Given the description of an element on the screen output the (x, y) to click on. 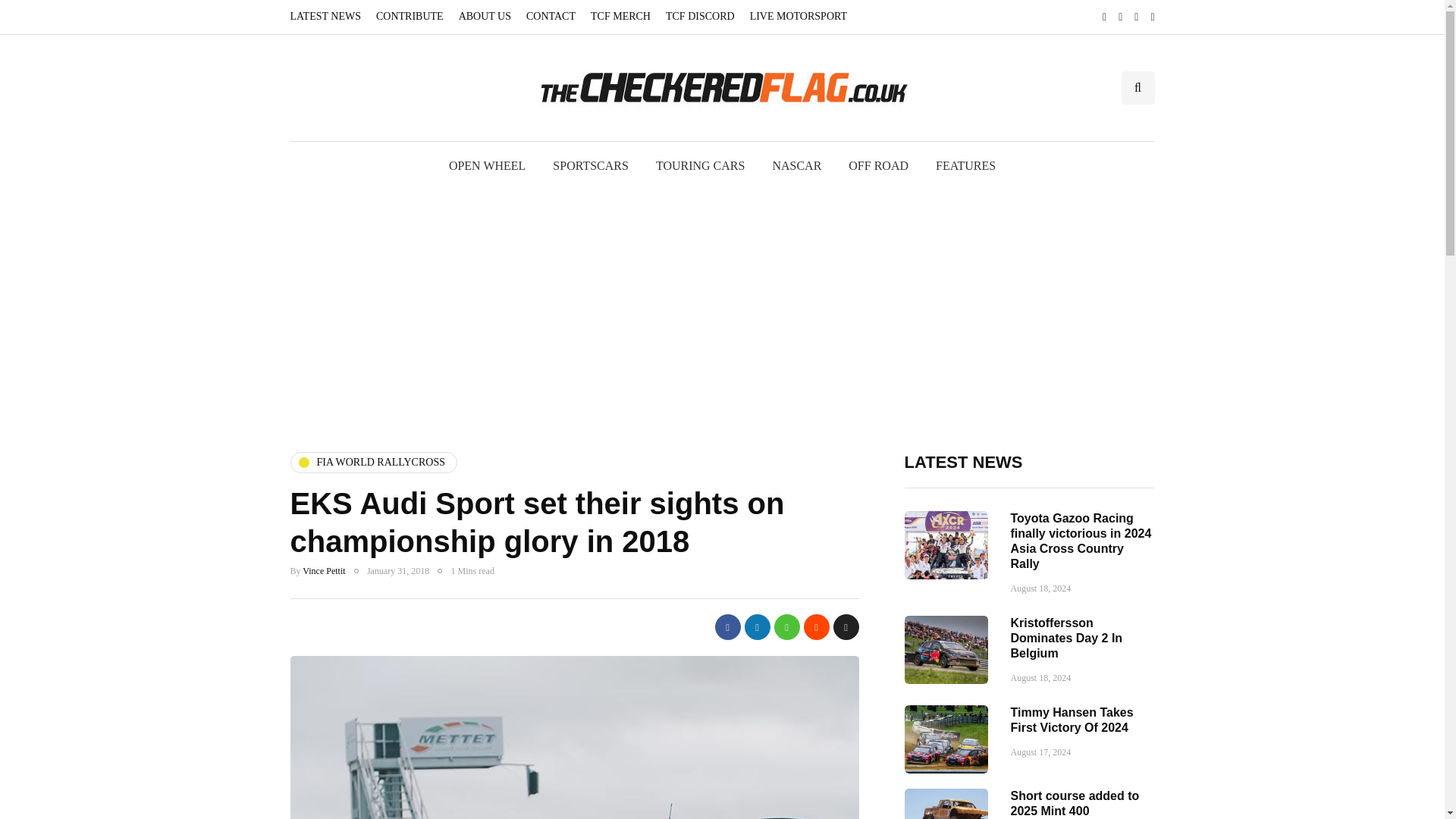
Posts by Vince Pettit (323, 570)
NASCAR (796, 164)
Share by Email (845, 626)
LATEST NEWS (328, 17)
TCF MERCH (620, 17)
TCF DISCORD (700, 17)
SPORTSCARS (590, 164)
ABOUT US (484, 17)
Share to WhatsApp (786, 626)
CONTACT (550, 17)
